Given the description of an element on the screen output the (x, y) to click on. 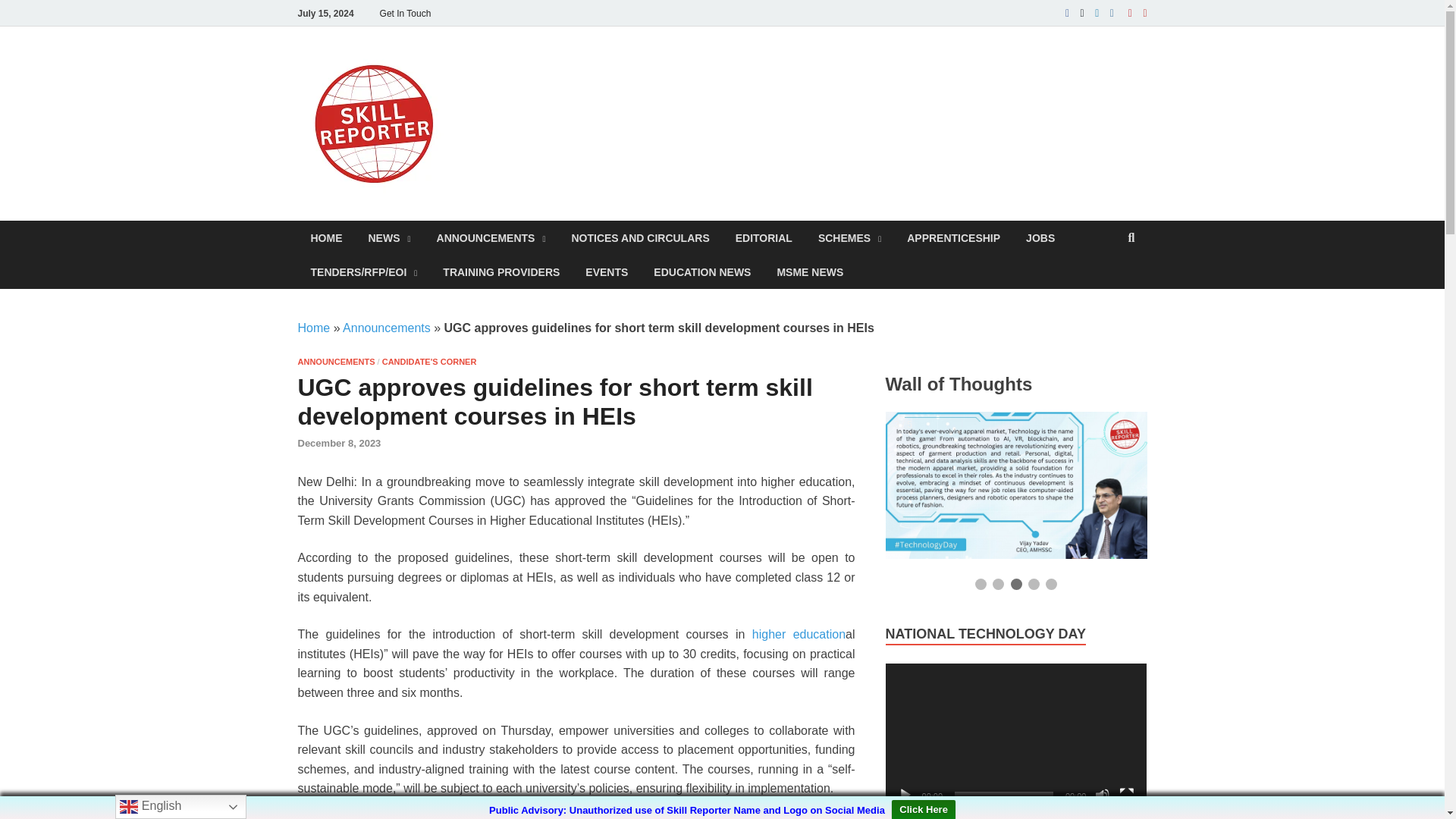
HOME (326, 237)
Get In Touch (405, 13)
NEWS (389, 237)
Home (326, 237)
Schemes (849, 237)
Skill Reporter (550, 78)
notices-circulars (639, 237)
Skill News (389, 237)
